Given the description of an element on the screen output the (x, y) to click on. 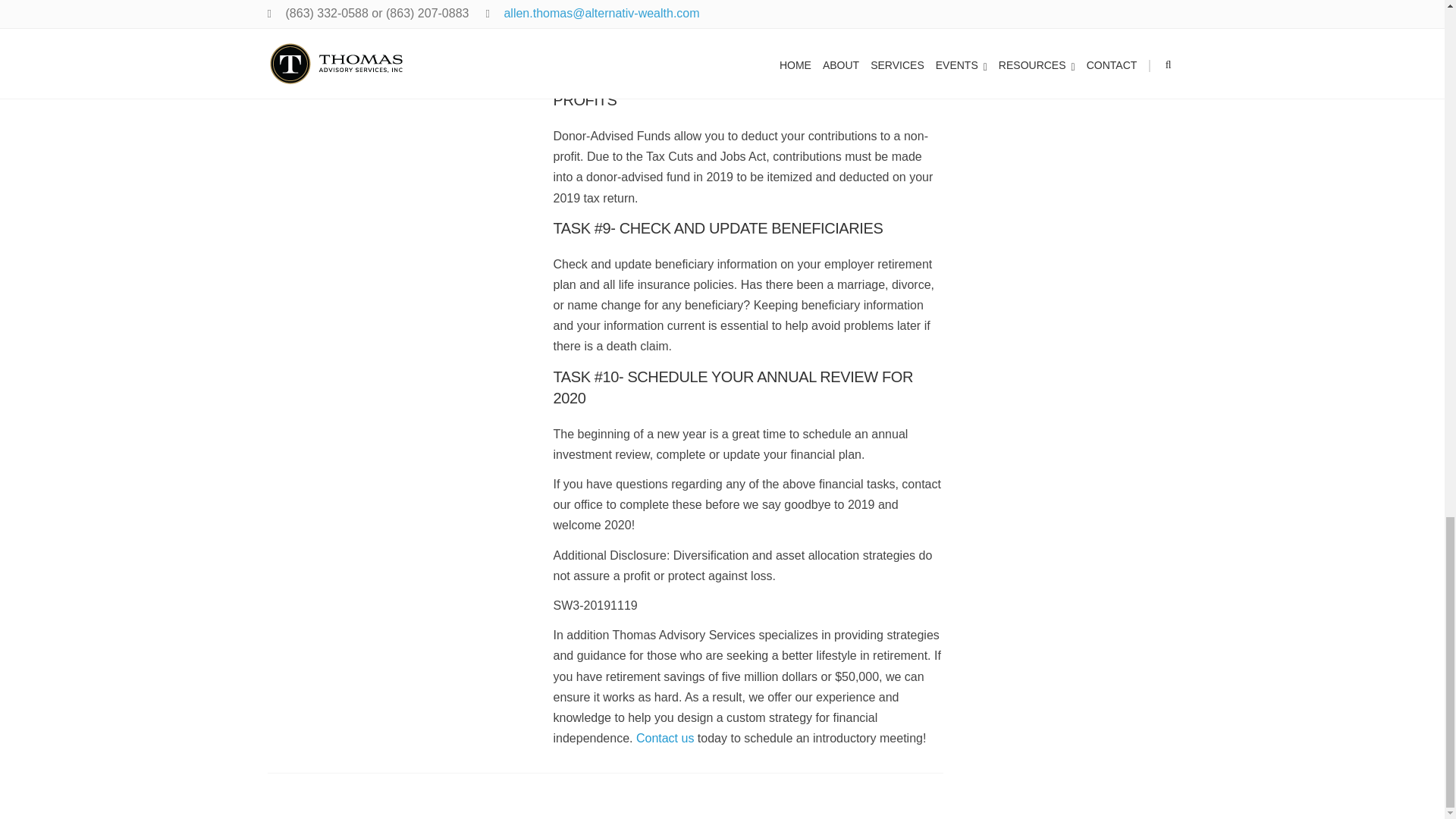
Contact us (665, 738)
